Given the description of an element on the screen output the (x, y) to click on. 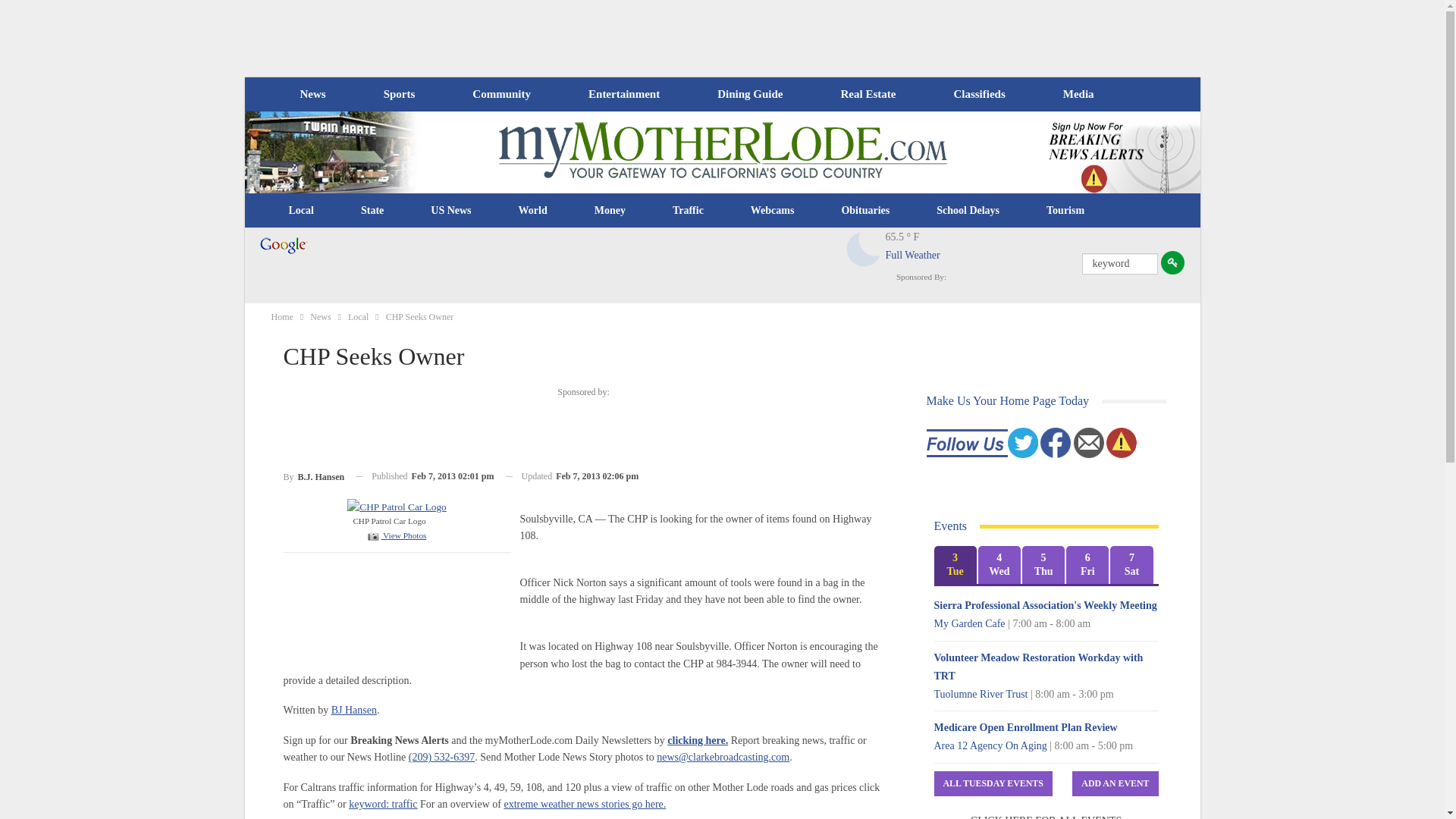
School Delays (967, 210)
Webcams (772, 210)
keyword (1119, 263)
Tourism (1065, 210)
Money (609, 210)
Traffic (687, 210)
Sports (399, 93)
State (372, 210)
All Tuesday Events (993, 783)
